Given the description of an element on the screen output the (x, y) to click on. 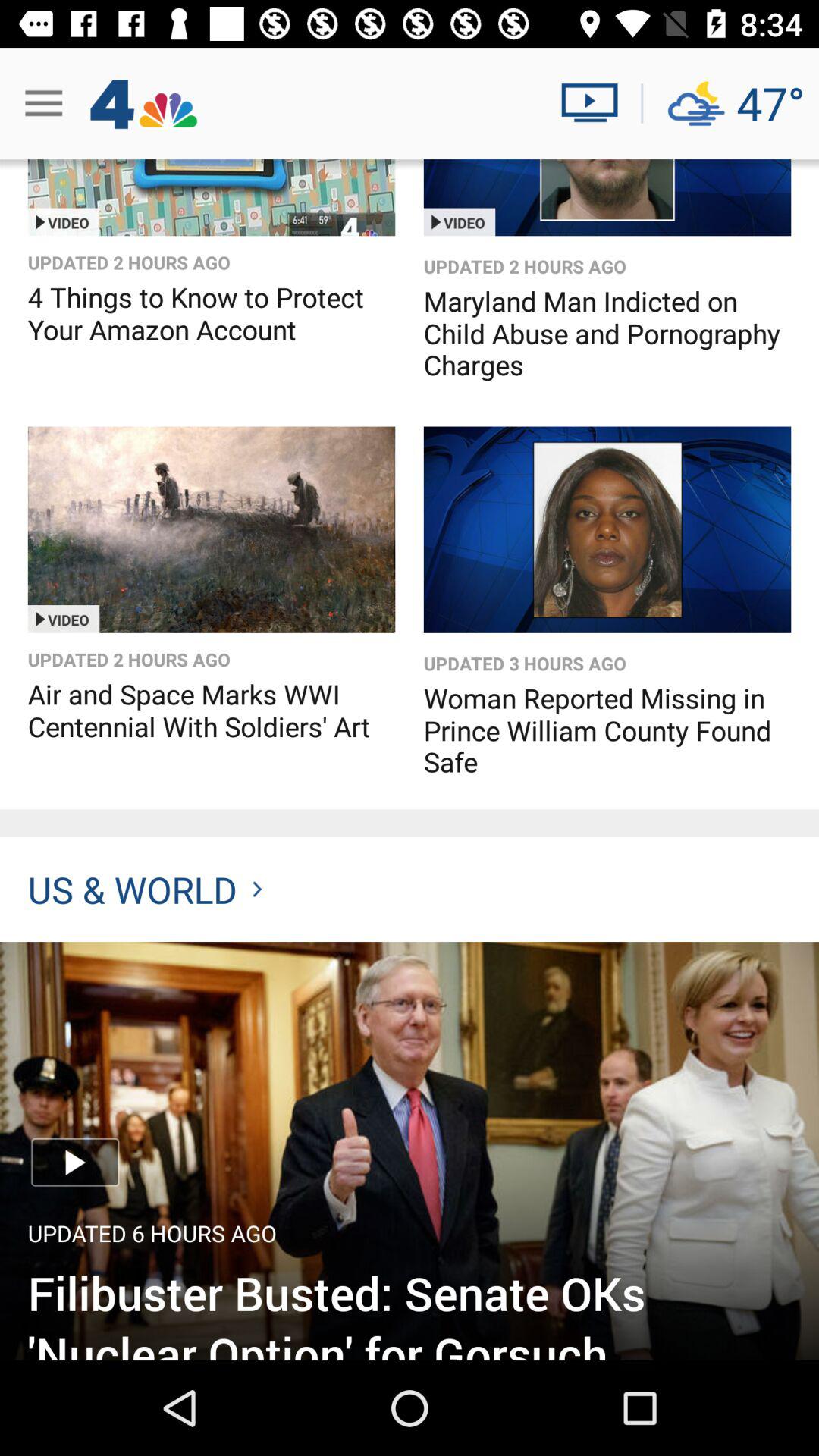
watch live video (595, 103)
